Given the description of an element on the screen output the (x, y) to click on. 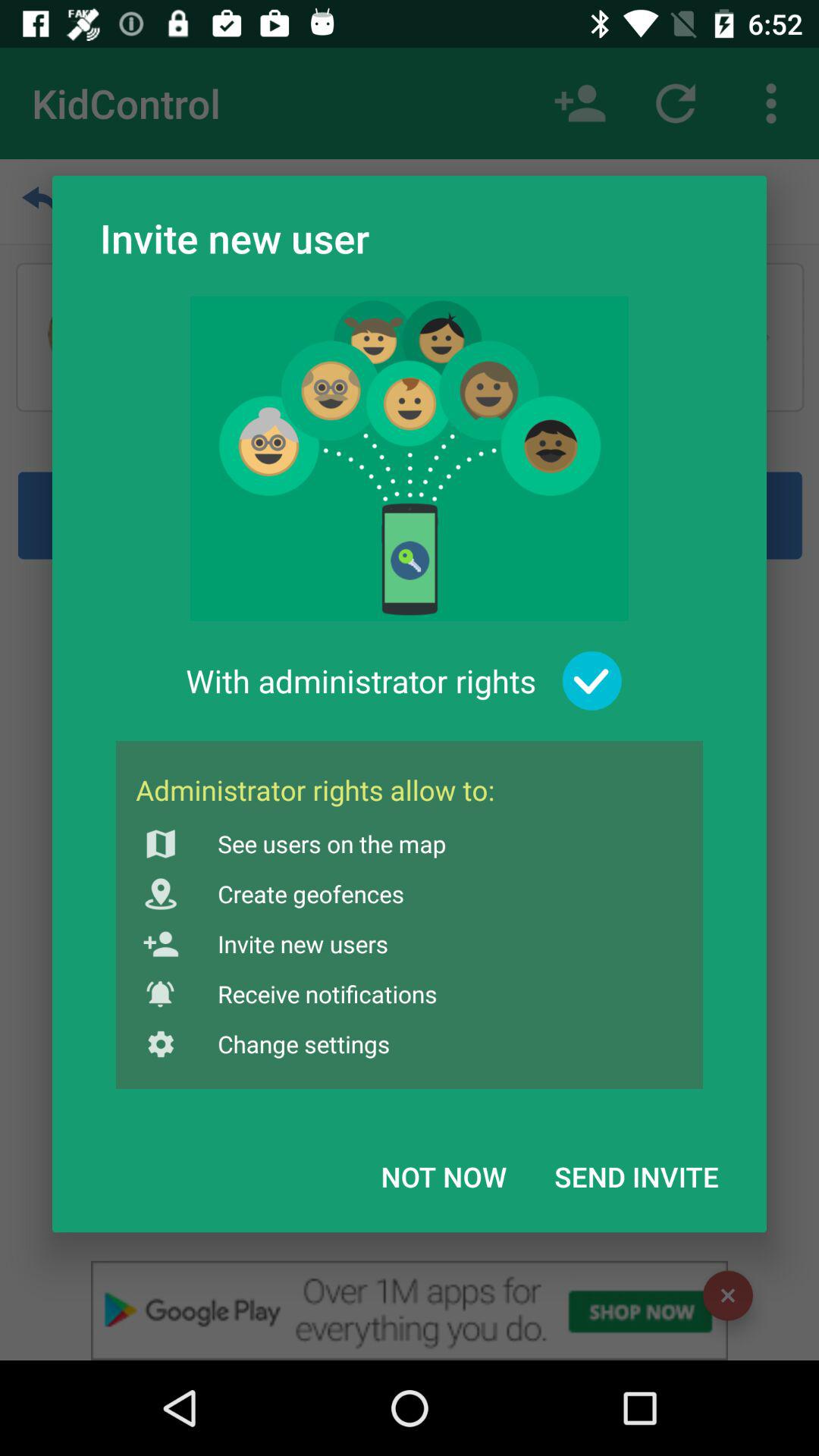
choose the send invite (636, 1176)
